Given the description of an element on the screen output the (x, y) to click on. 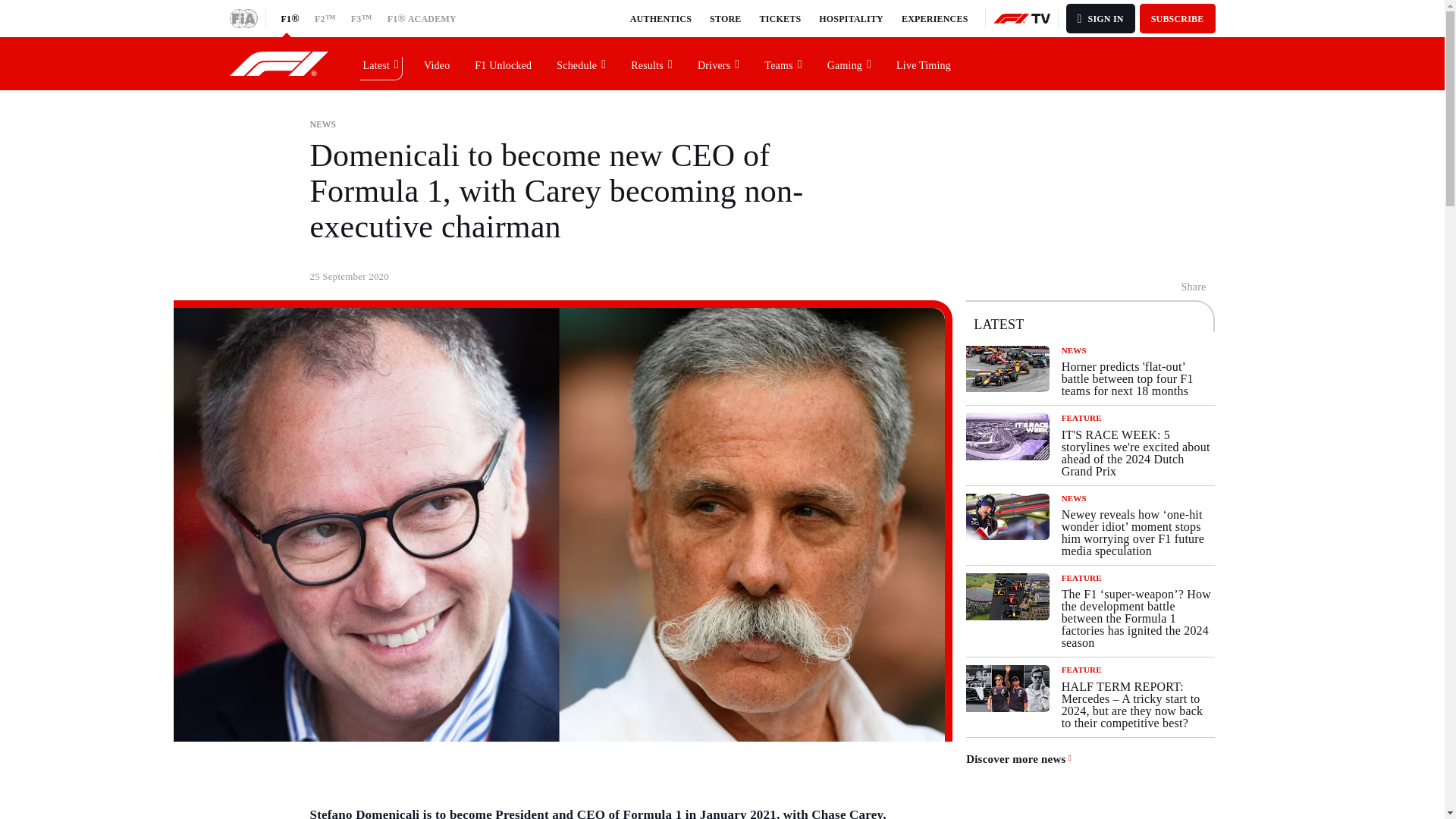
SUBSCRIBE (1177, 18)
F1 Unlocked (503, 63)
Video (437, 63)
Latest (380, 63)
EXPERIENCES (934, 18)
AUTHENTICS (660, 18)
Gaming (849, 63)
Discover more news (1018, 758)
Schedule (581, 63)
Drivers (718, 63)
